Given the description of an element on the screen output the (x, y) to click on. 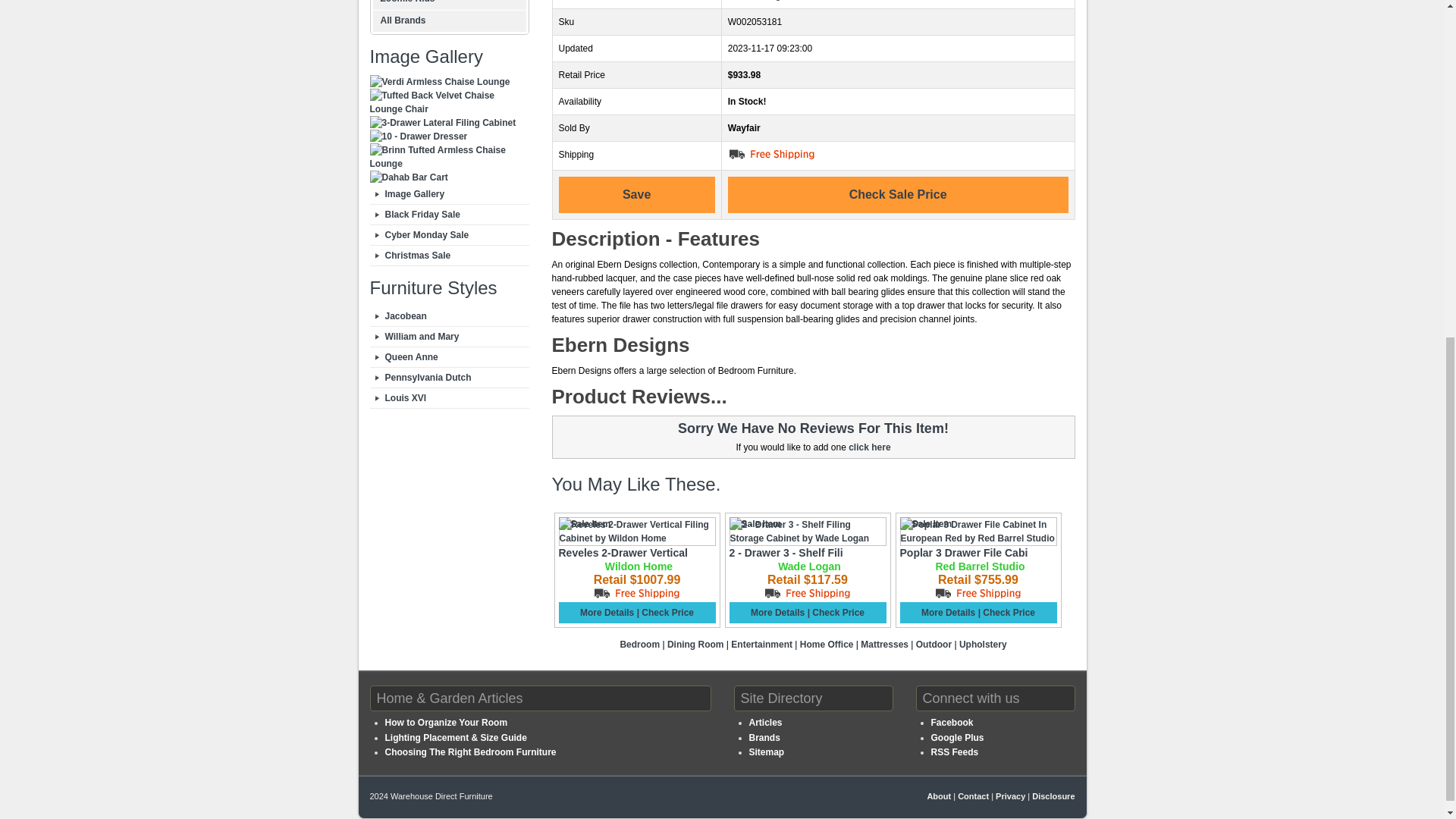
Sale Item (925, 523)
Ebern Designs (760, 0)
click here (868, 447)
Check Sale Price (897, 194)
Save (636, 194)
Reveles 2-Drawer Vertical Filing Cabinet by Wildon Home (622, 552)
Tufted Back Velvet Chaise Lounge Chair (449, 102)
Check Price (668, 612)
Wade Logan (807, 566)
